Given the description of an element on the screen output the (x, y) to click on. 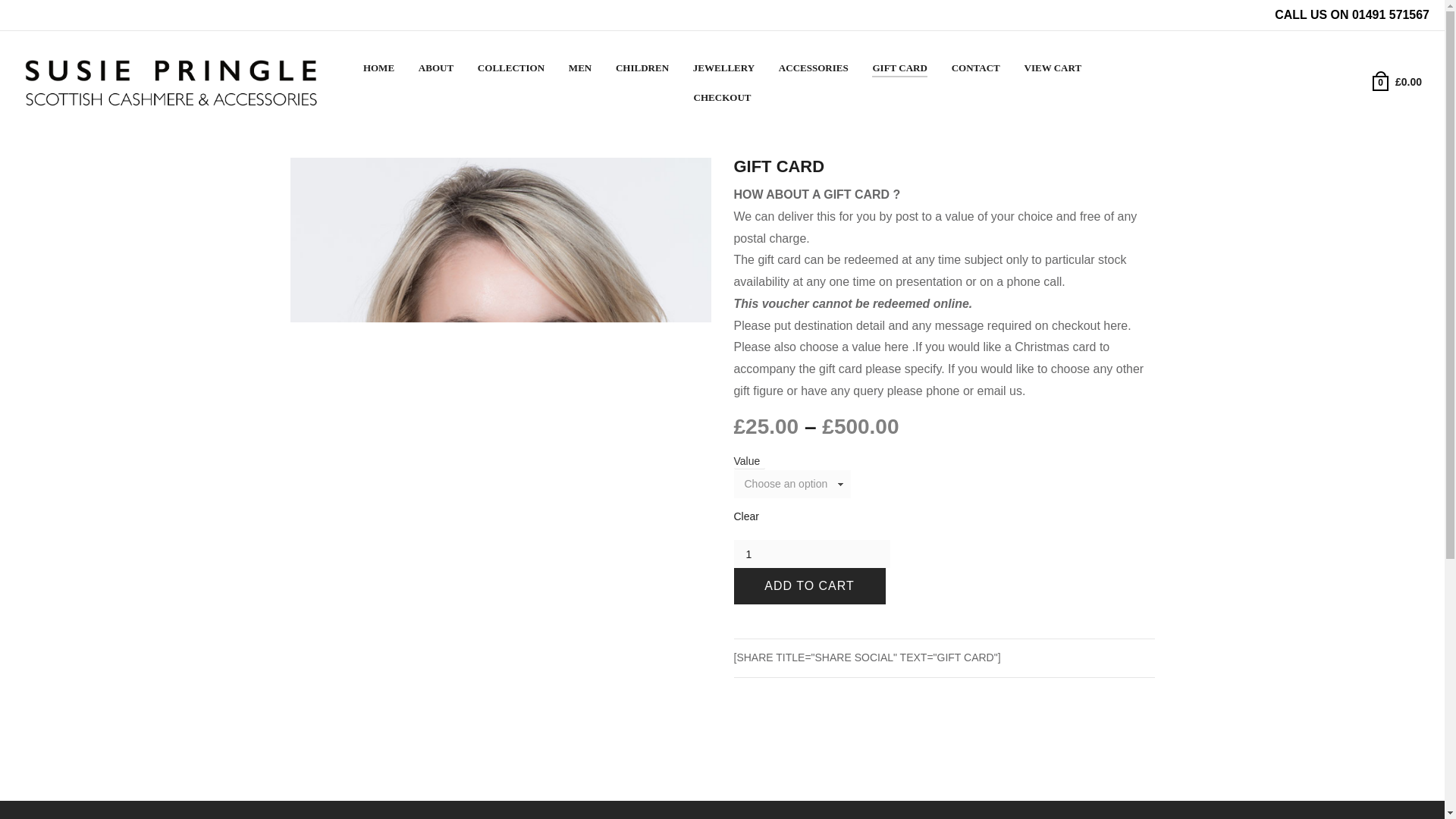
JEWELLERY (723, 68)
ACCESSORIES (813, 68)
VIEW CART (1052, 68)
ABOUT (435, 68)
CHECKOUT (721, 98)
COLLECTION (510, 68)
ADD TO CART (809, 586)
Qty (812, 553)
Clear (745, 516)
CHILDREN (642, 68)
